Given the description of an element on the screen output the (x, y) to click on. 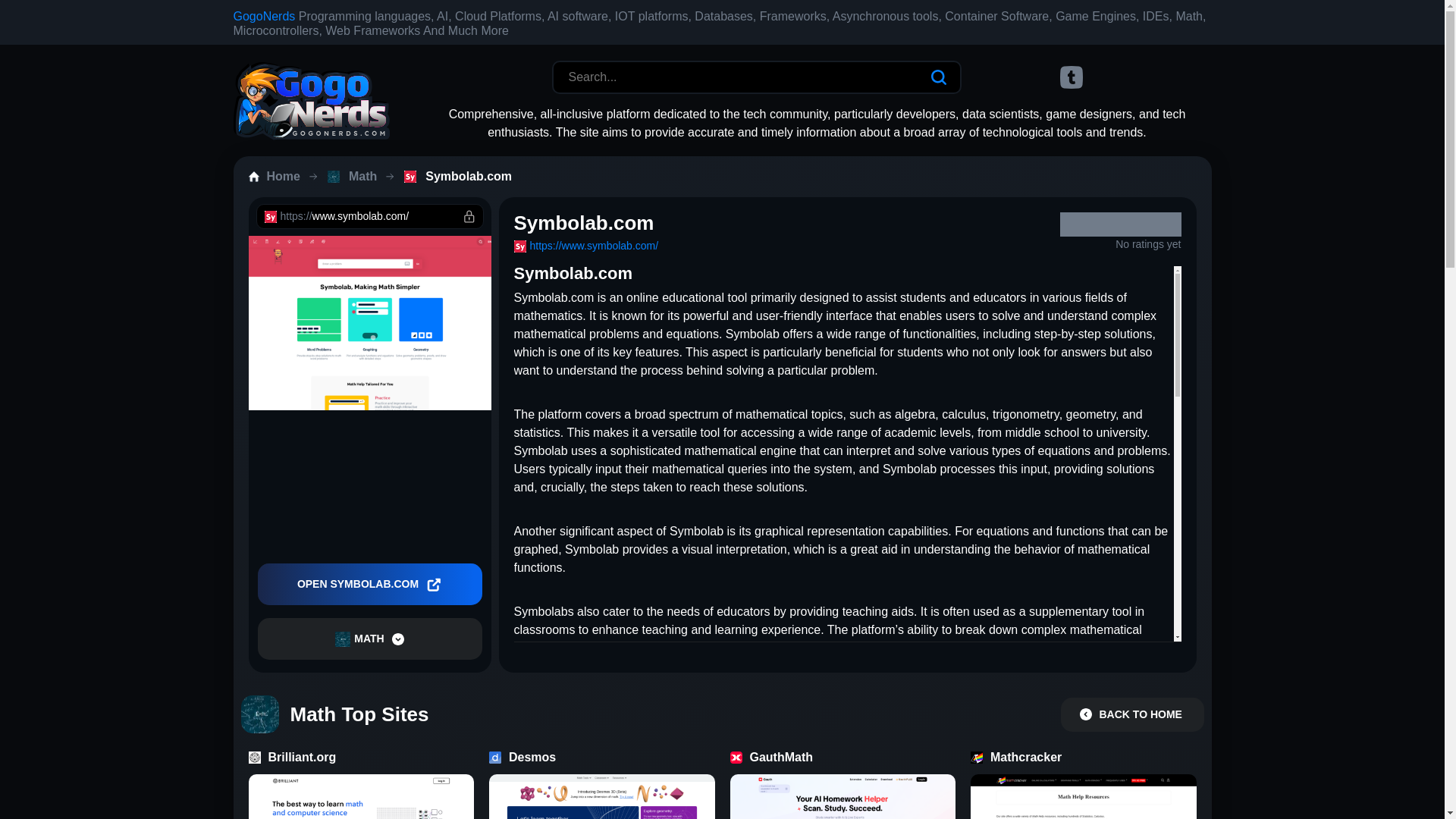
OPEN SYMBOLAB.COM (369, 584)
Home (283, 176)
BACK TO HOME (1131, 714)
GogoNerds (263, 15)
MATH (369, 639)
Math (360, 176)
